Given the description of an element on the screen output the (x, y) to click on. 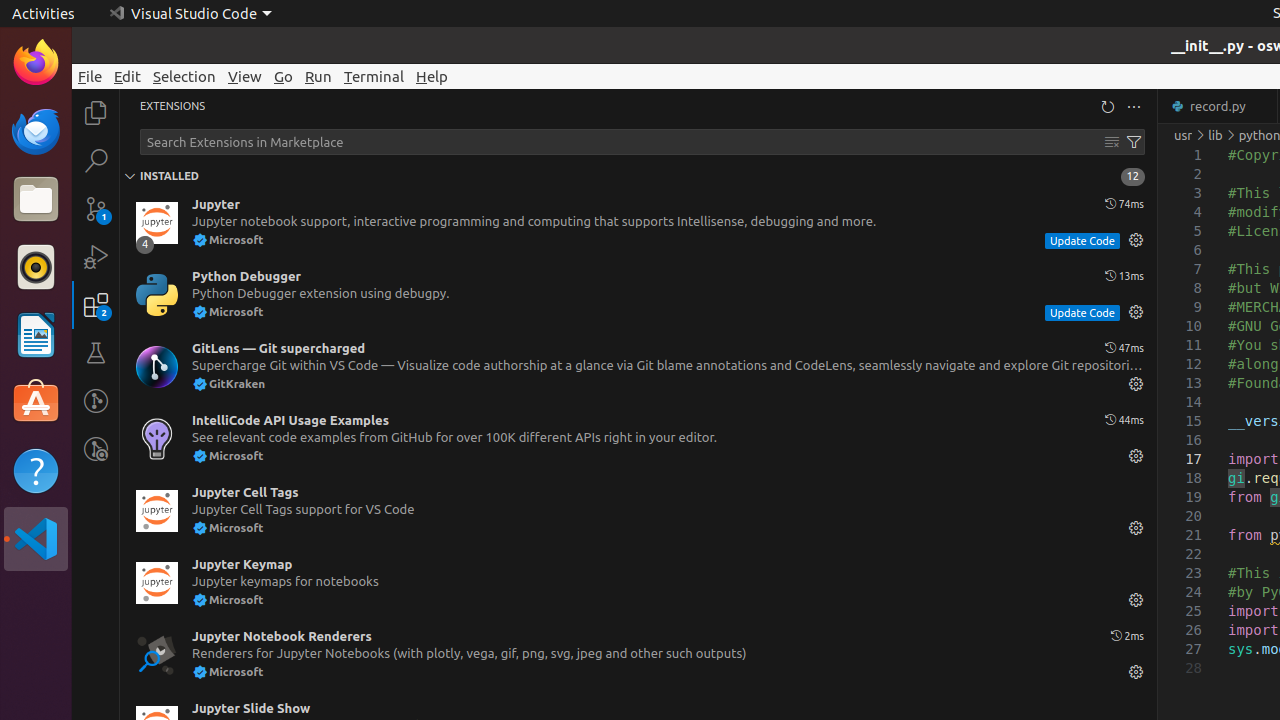
Jupyter Notebook Renderers, 1.0.19, Verified Publisher Microsoft, Renderers for Jupyter Notebooks (with plotly, vega, gif, png, svg, jpeg and other such outputs) , Rated 2.79 out of 5 stars by 14 users Element type: list-item (638, 655)
Go Element type: push-button (283, 76)
